Given the description of an element on the screen output the (x, y) to click on. 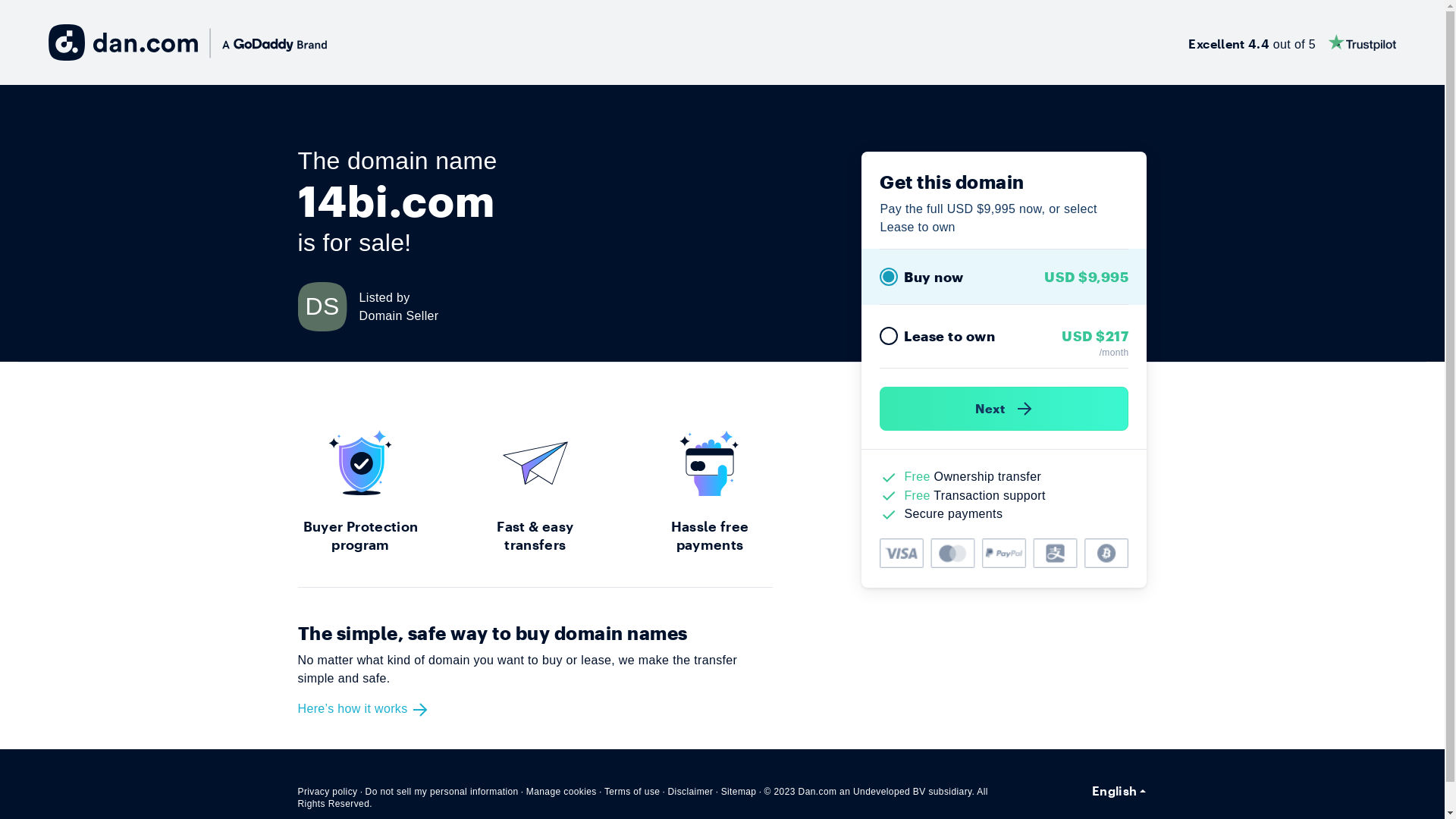
Disclaimer Element type: text (689, 791)
Privacy policy Element type: text (327, 791)
Sitemap Element type: text (738, 791)
Do not sell my personal information Element type: text (441, 791)
Next
) Element type: text (1003, 408)
English Element type: text (1119, 790)
Excellent 4.4 out of 5 Element type: text (1292, 42)
Manage cookies Element type: text (561, 791)
Terms of use Element type: text (632, 791)
